Given the description of an element on the screen output the (x, y) to click on. 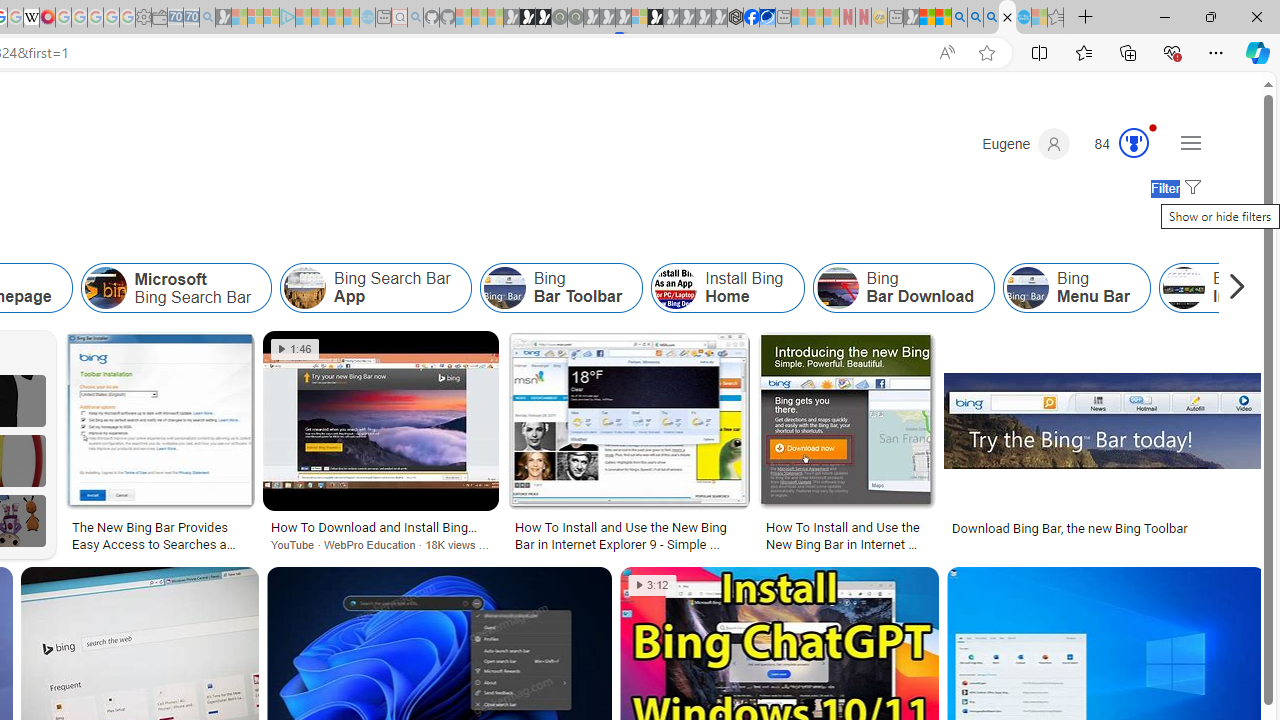
Image result for Bing Search Bar Install (1104, 421)
3:12 (652, 585)
Sign in to your account - Sleeping (639, 17)
1:46 (295, 349)
Nordace | Facebook (751, 17)
AirNow.gov (767, 17)
Class: item col (1076, 287)
